Given the description of an element on the screen output the (x, y) to click on. 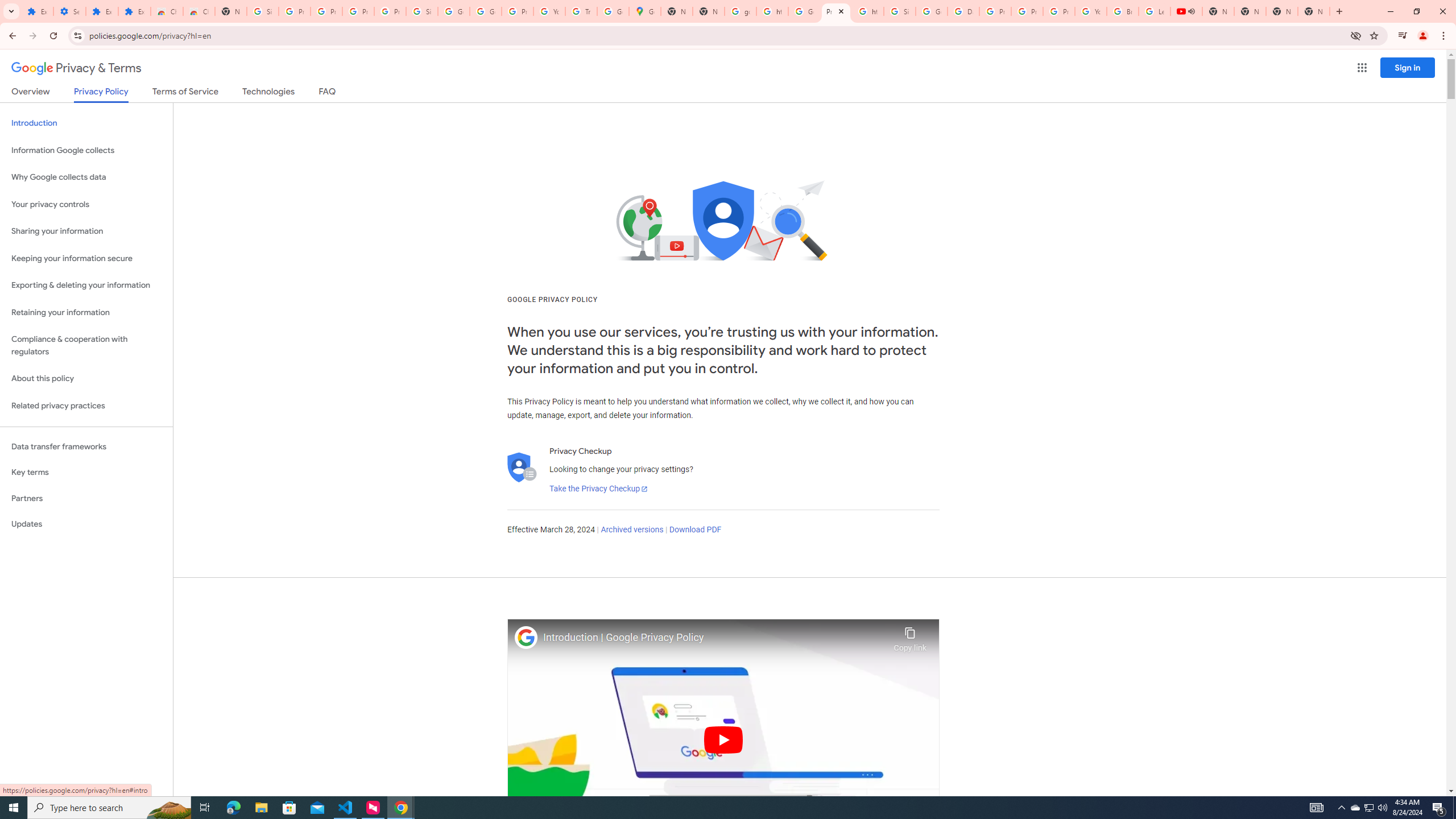
Extensions (37, 11)
Retaining your information (86, 312)
Your privacy controls (86, 204)
Chrome Web Store - Themes (198, 11)
Introduction (86, 122)
Sharing your information (86, 230)
New Tab (230, 11)
Compliance & cooperation with regulators (86, 345)
